Given the description of an element on the screen output the (x, y) to click on. 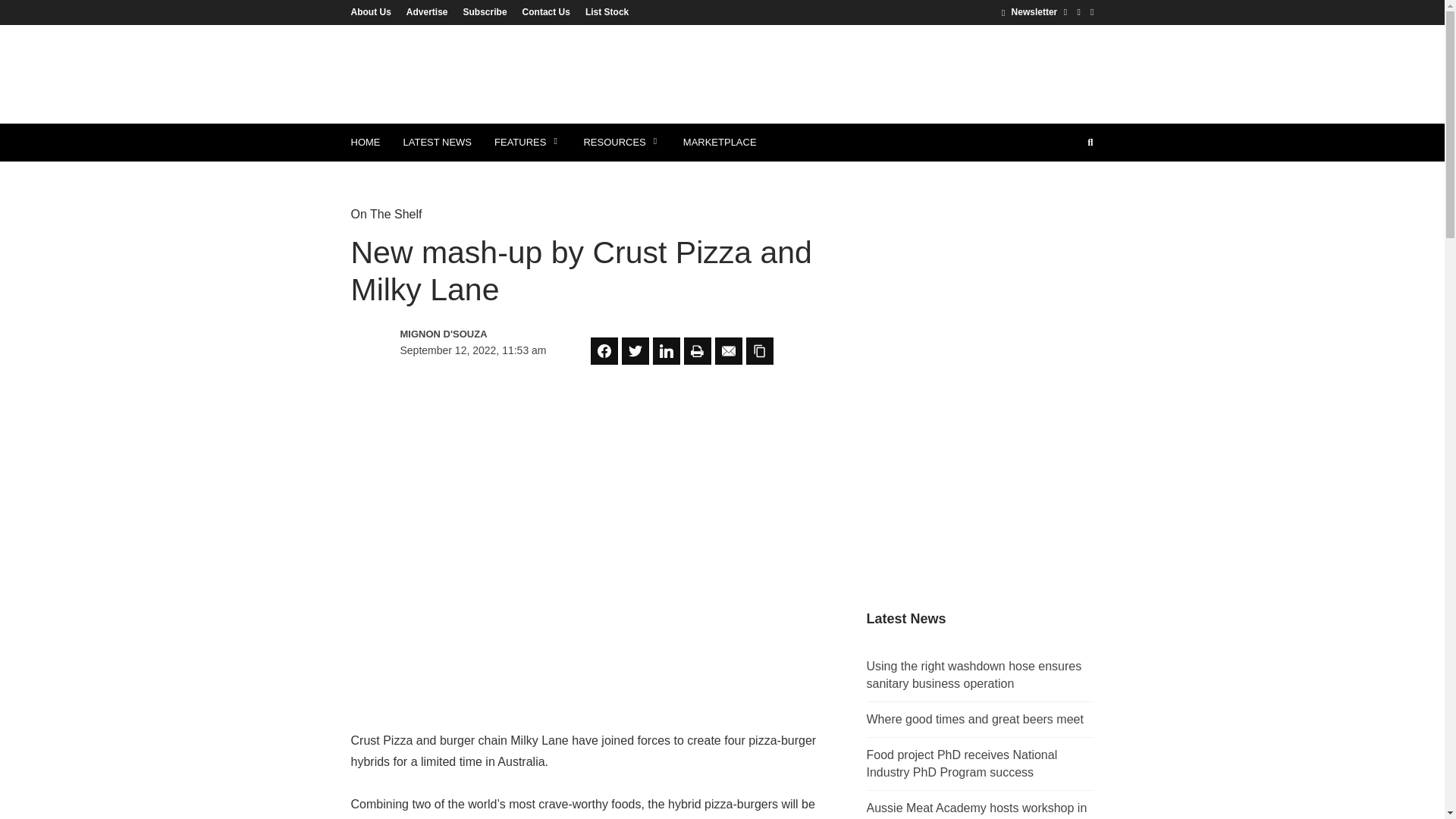
Share on Print (697, 350)
RESOURCES (621, 142)
HOME (365, 142)
FEATURES (527, 142)
LATEST NEWS (437, 142)
Advertise (426, 11)
MIGNON D'SOUZA (465, 333)
On The Shelf (386, 214)
Share on Facebook (604, 350)
Newsletter (1029, 11)
MARKETPLACE (719, 142)
Share on Copy Link (759, 350)
Share on LinkedIn (665, 350)
Contact Us (546, 11)
List Stock (603, 11)
